Given the description of an element on the screen output the (x, y) to click on. 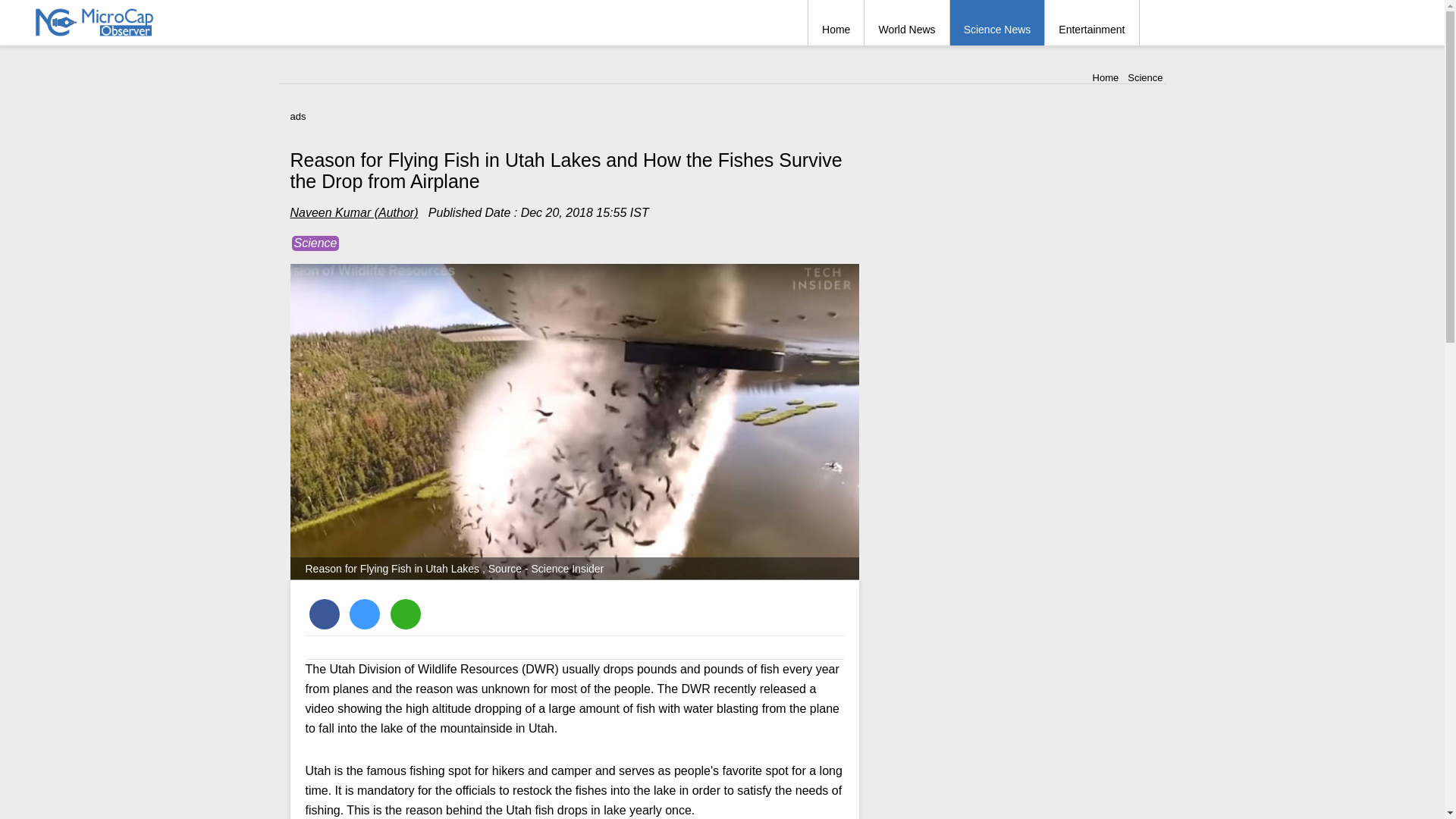
Science News (997, 22)
Home (836, 22)
Entertainment (1091, 22)
Science (1144, 77)
Science (315, 242)
science News (997, 22)
World News (906, 22)
Home (1105, 77)
World News (906, 22)
Entertainment News (1091, 22)
MicroCap Observer (1105, 77)
MicroCap Observer (95, 21)
Home (836, 22)
